Given the description of an element on the screen output the (x, y) to click on. 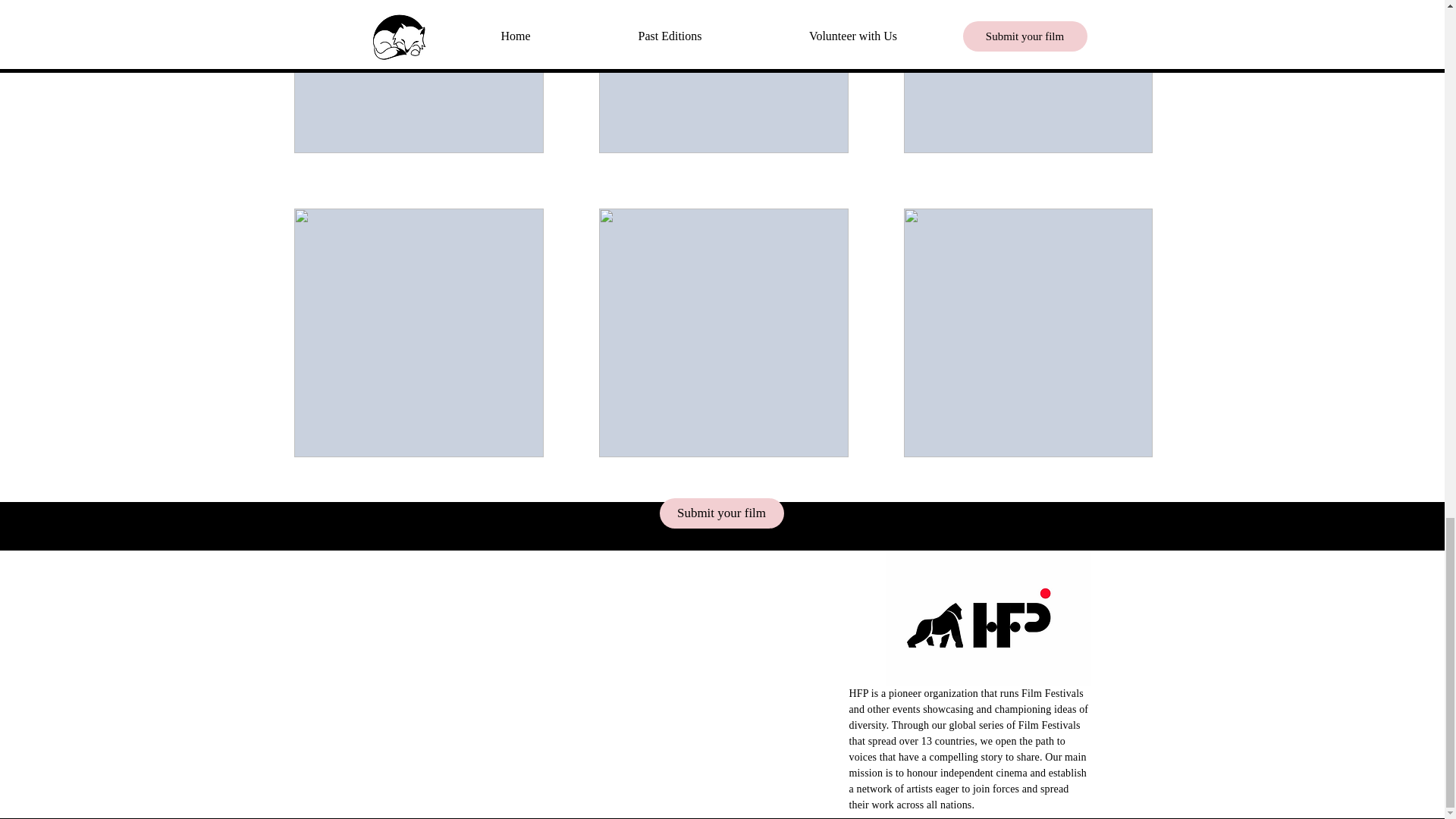
Submit your film (721, 512)
